Given the description of an element on the screen output the (x, y) to click on. 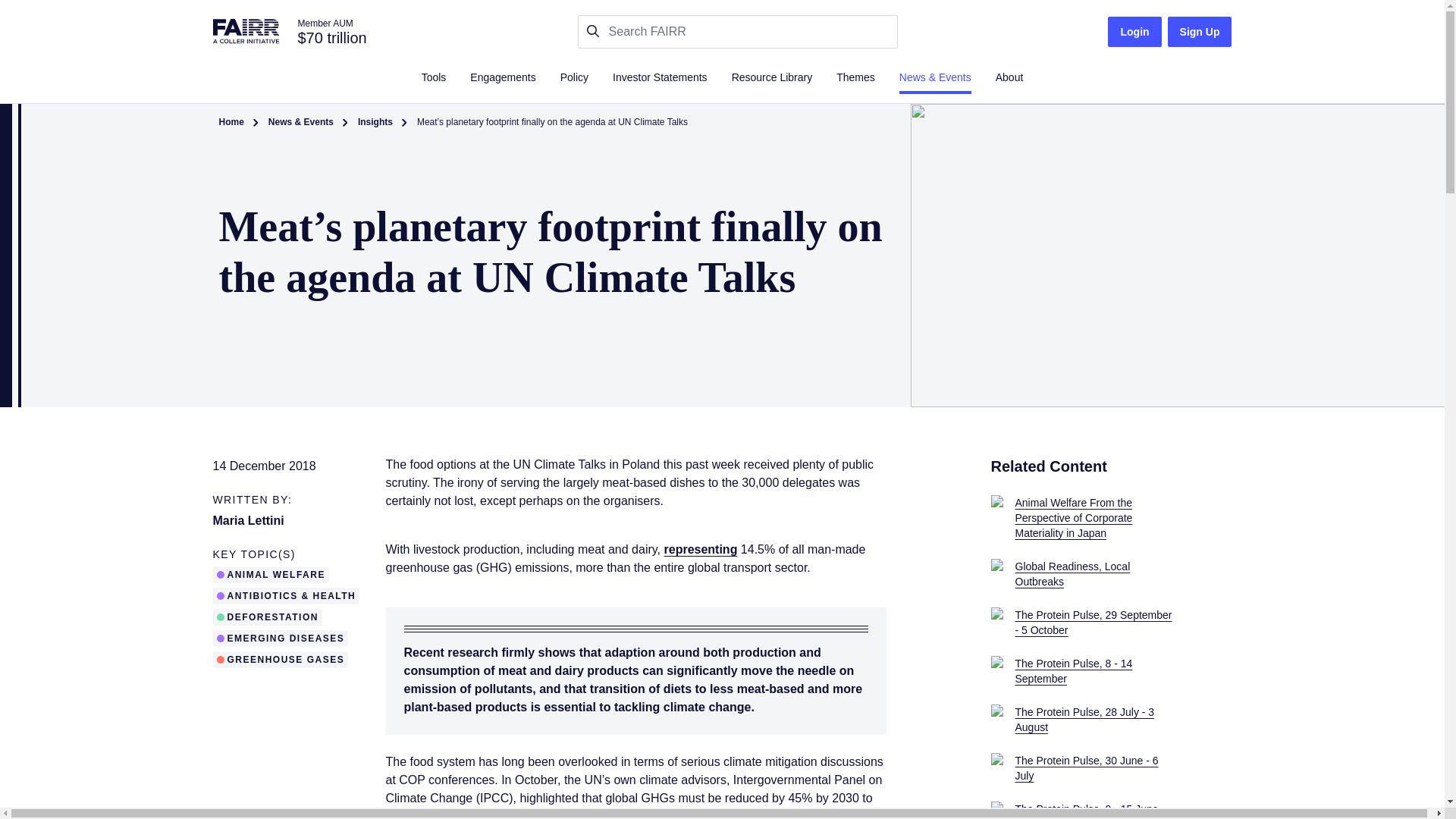
The Protein Pulse, 28 July - 3 August (1110, 719)
ANIMAL WELFARE (273, 574)
The Protein Pulse, 8 - 14 September (1110, 671)
representing (700, 549)
The Protein Pulse, 30 June - 6 July (1110, 767)
Home (230, 122)
The Protein Pulse, 29 September - 5 October (1110, 622)
Insights (375, 122)
Sign Up (1199, 31)
